Given the description of an element on the screen output the (x, y) to click on. 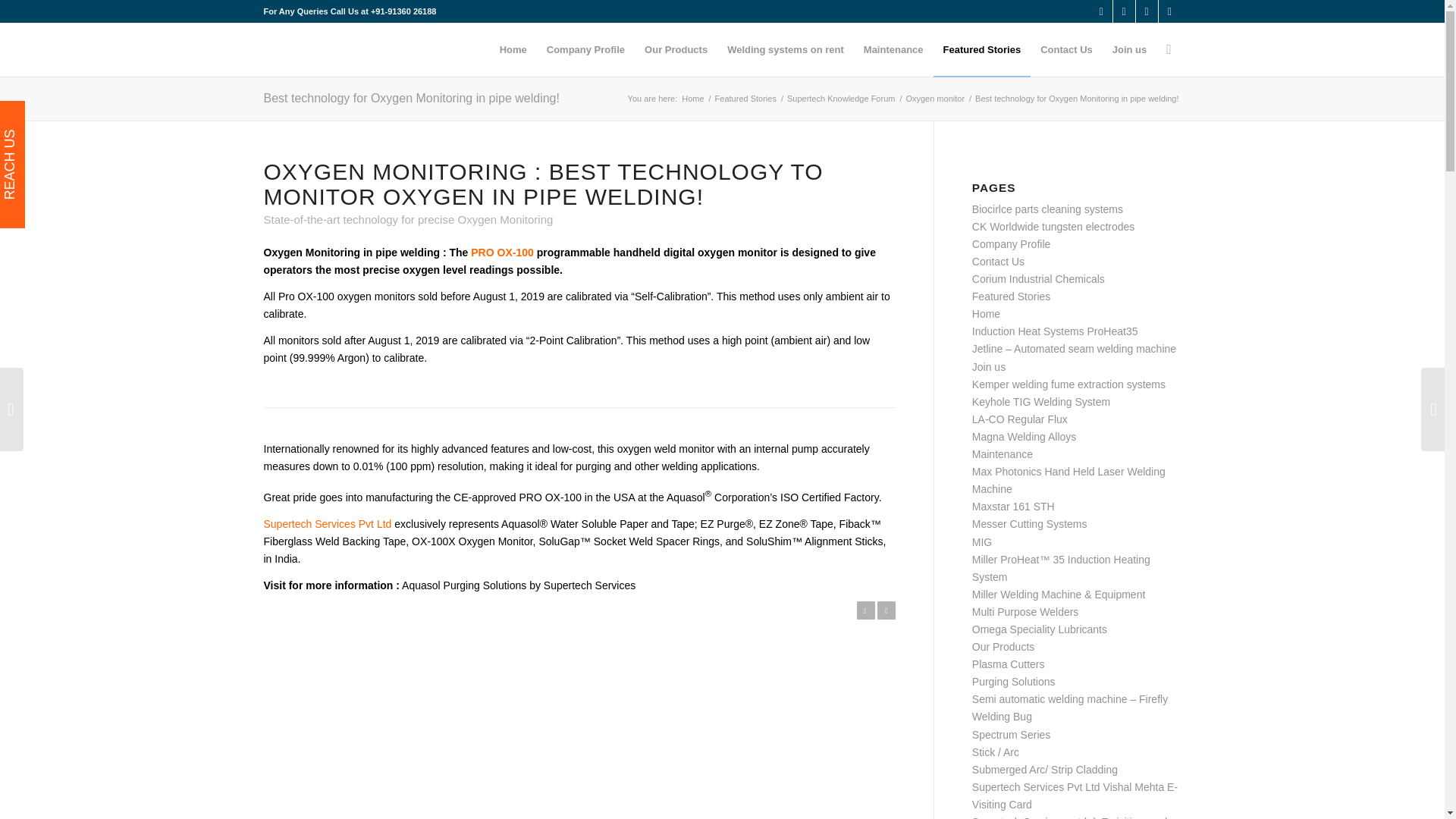
LinkedIn (1146, 11)
Facebook (1124, 11)
Company Profile (585, 49)
Pinterest (1169, 11)
Aquasol Purging Solutions by Supertech Services (517, 585)
Featured Stories (981, 49)
Previous (866, 610)
Twitter (1101, 11)
Best technology for Oxygen Monitoring in pipe welding! (411, 97)
Our Products (675, 49)
